Given the description of an element on the screen output the (x, y) to click on. 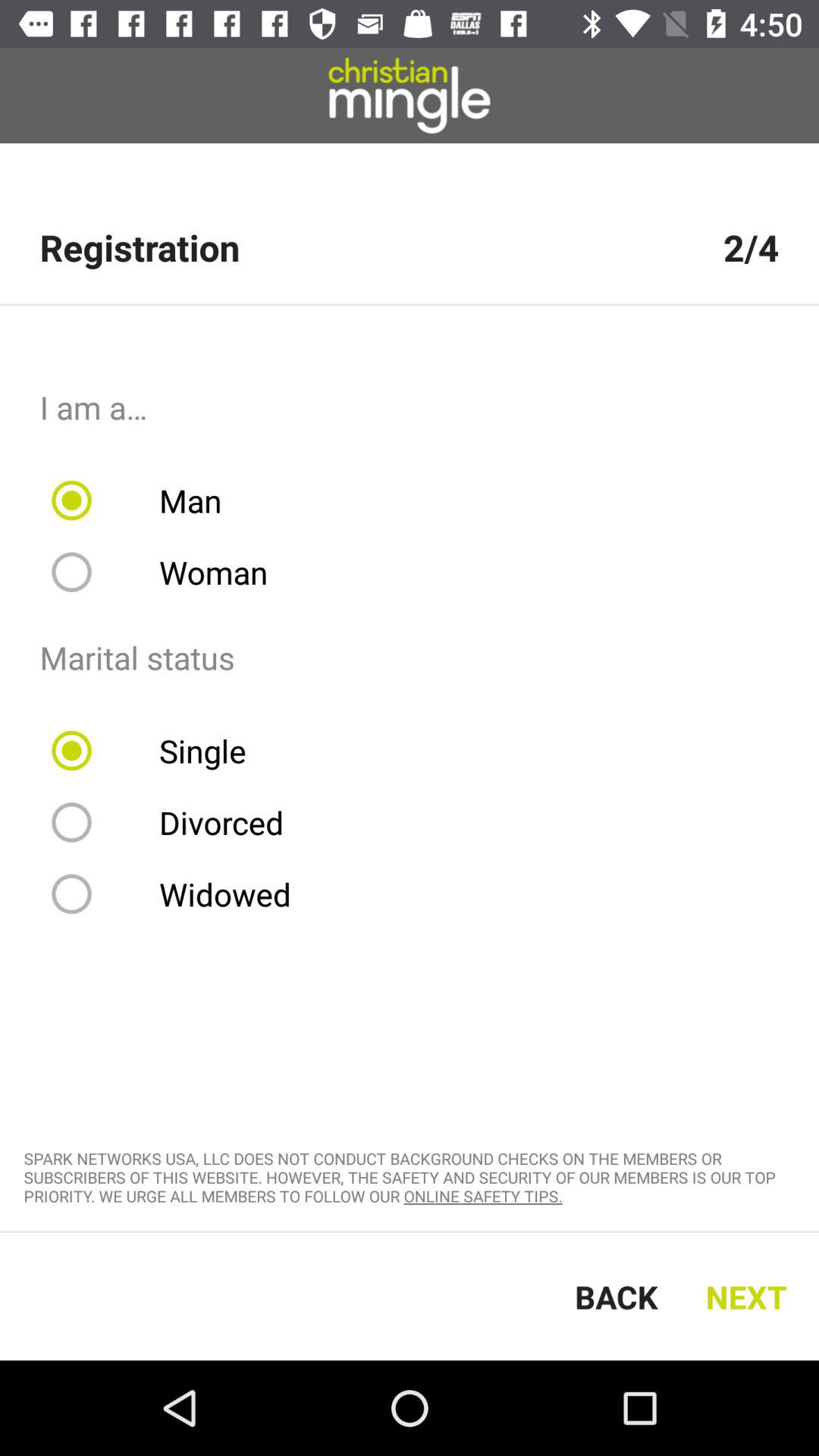
select the item below the marital status (158, 750)
